Given the description of an element on the screen output the (x, y) to click on. 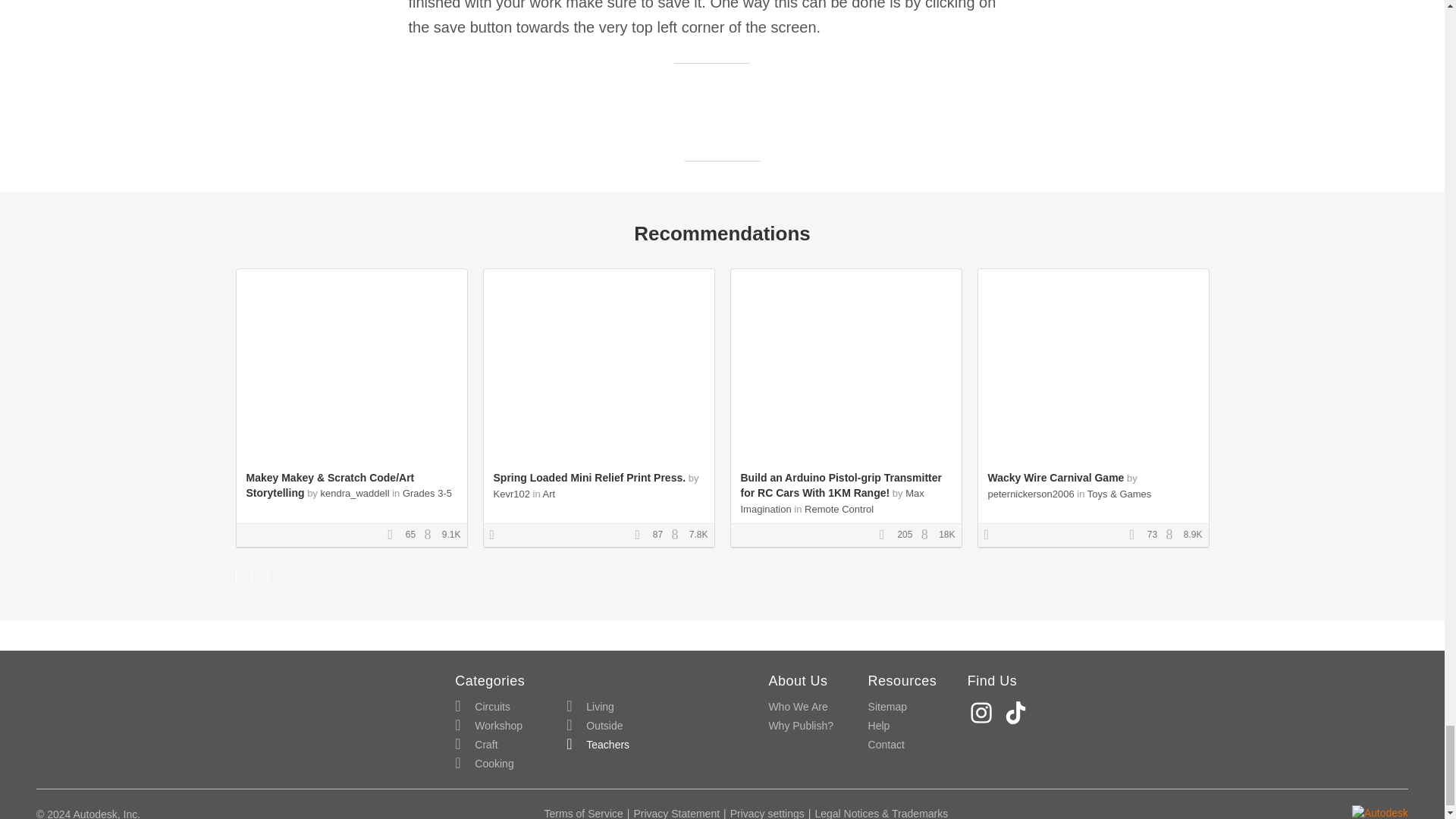
Teachers (597, 744)
Workshop (488, 725)
Favorites Count (395, 534)
Cooking (483, 763)
Views Count (928, 534)
Who We Are (797, 706)
Wacky Wire Carnival Game (1055, 477)
TikTok (1018, 712)
Contest Winner (497, 534)
Views Count (678, 534)
Views Count (431, 534)
peternickerson2006 (1030, 493)
Spring Loaded Mini Relief Print Press. (589, 477)
Craft (475, 744)
